Given the description of an element on the screen output the (x, y) to click on. 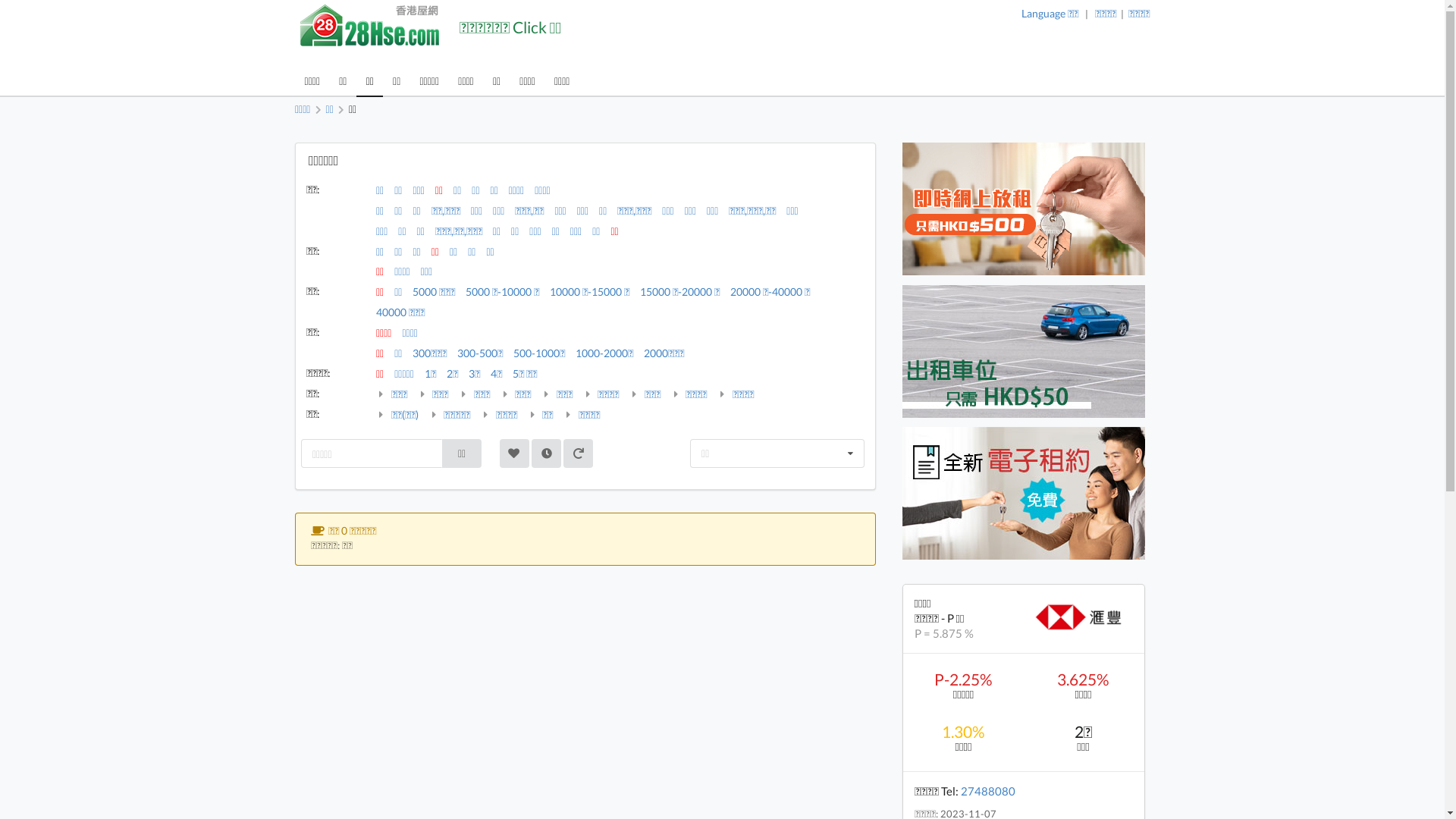
27488080 Element type: text (987, 790)
